Given the description of an element on the screen output the (x, y) to click on. 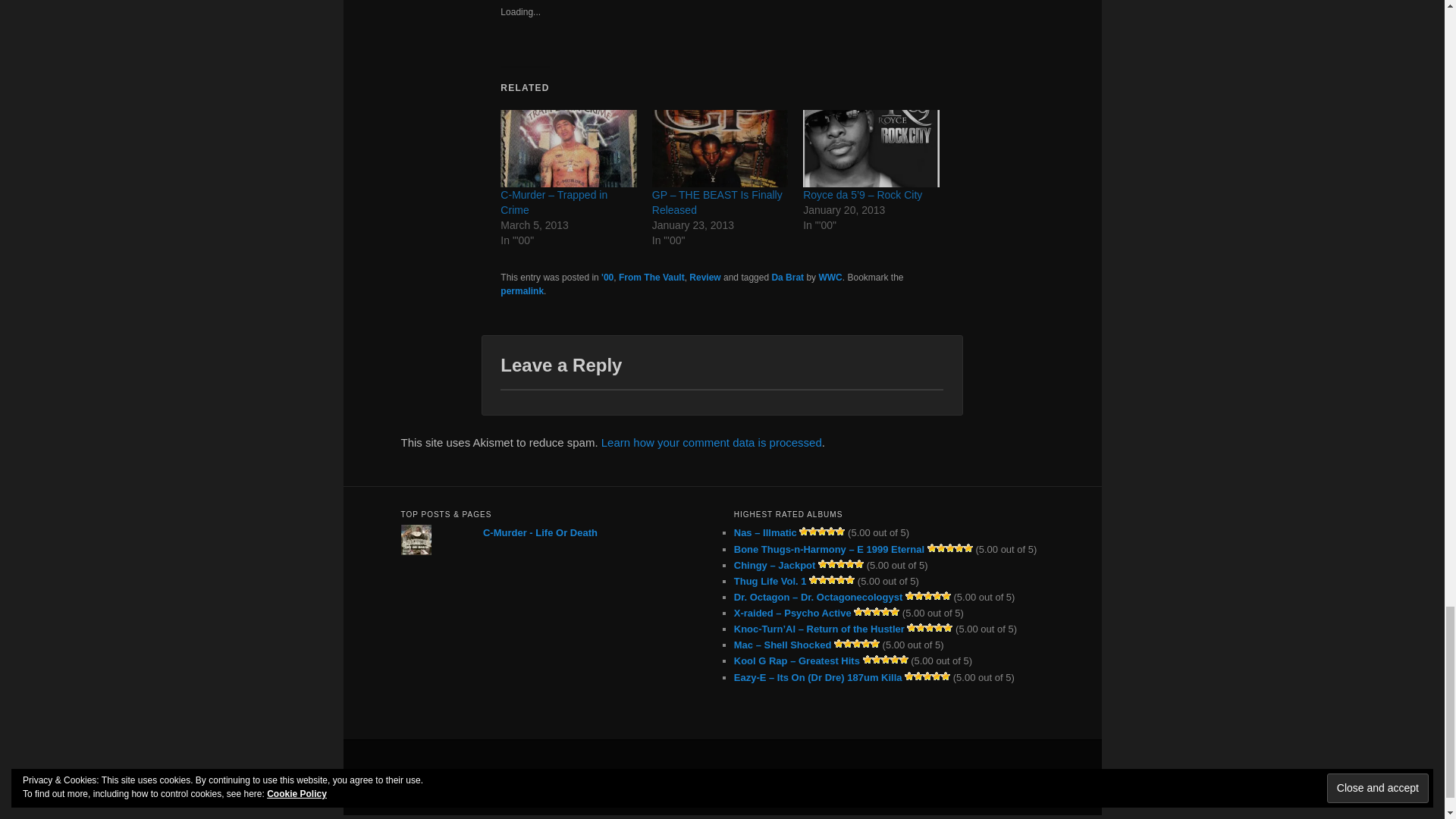
Learn how your comment data is processed (711, 441)
WWC (829, 276)
From The Vault (651, 276)
Da Brat (787, 276)
'00 (606, 276)
C-Murder - Life Or Death (539, 532)
Review (704, 276)
permalink (521, 290)
